Given the description of an element on the screen output the (x, y) to click on. 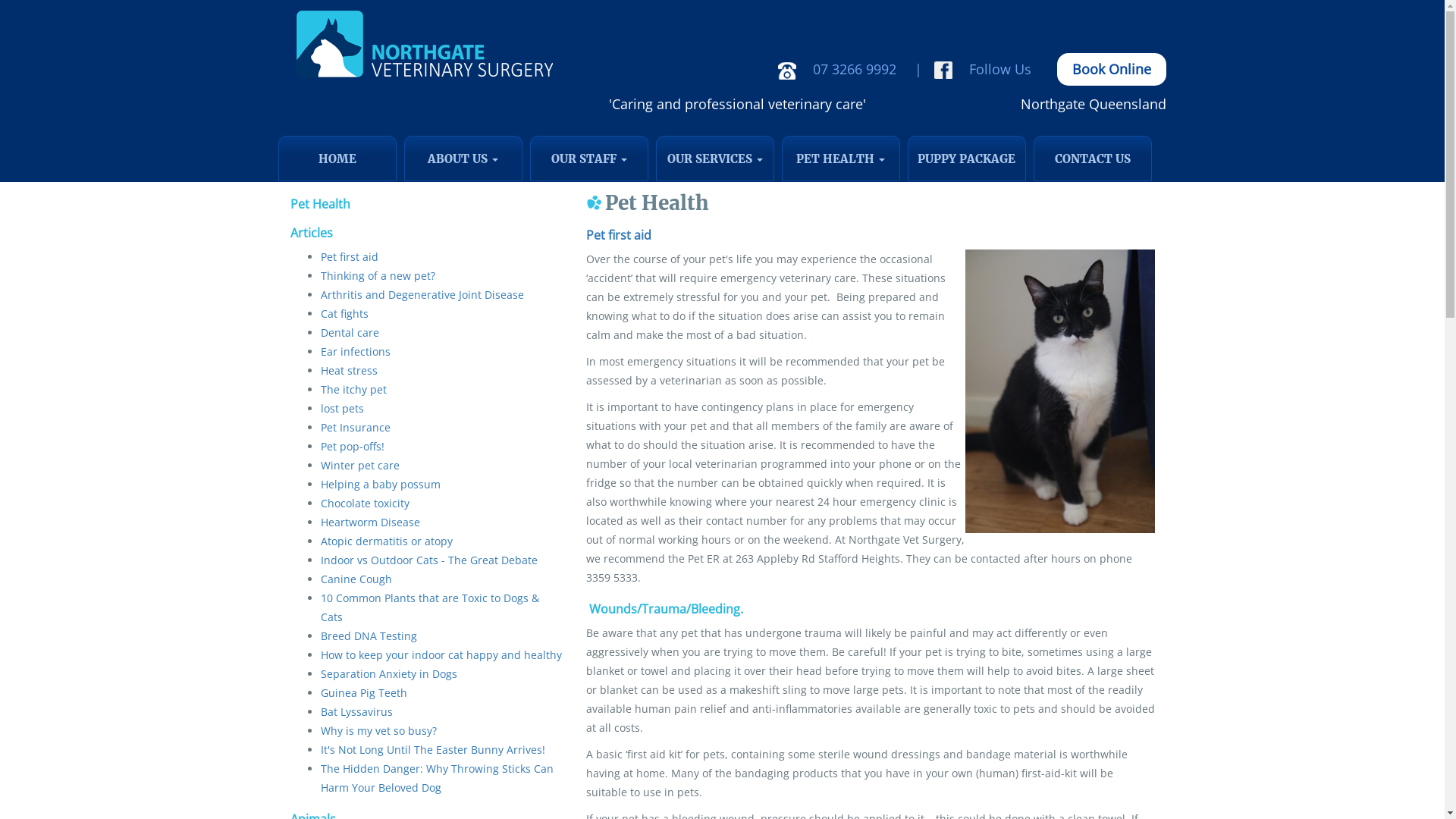
OUR SERVICES Element type: text (714, 158)
Pet pop-offs! Element type: text (351, 446)
The itchy pet Element type: text (352, 389)
Book Online Element type: text (1111, 69)
Atopic dermatitis or atopy Element type: text (385, 540)
Ear infections Element type: text (354, 351)
Helping a baby possum Element type: text (379, 483)
Pet Insurance Element type: text (354, 427)
Thinking of a new pet? Element type: text (377, 275)
Follow Us Element type: text (985, 68)
Dental care Element type: text (349, 332)
lost pets Element type: text (341, 408)
Heartworm Disease Element type: text (369, 521)
Separation Anxiety in Dogs Element type: text (388, 673)
Northgate Veterinary Surgery Logo Element type: hover (422, 45)
Canine Cough Element type: text (355, 578)
Cat fights Element type: text (343, 313)
OUR STAFF Element type: text (588, 158)
It's Not Long Until The Easter Bunny Arrives! Element type: text (432, 749)
Call Northgate Vet Surgery Element type: hover (786, 70)
Like Northgate Veterinary on Facebook Element type: hover (942, 70)
Bat Lyssavirus Element type: text (356, 711)
10 Common Plants that are Toxic to Dogs & Cats Element type: text (429, 607)
HOME Element type: text (336, 158)
Arthritis and Degenerative Joint Disease Element type: text (421, 294)
Heat stress Element type: text (348, 370)
Why is my vet so busy? Element type: text (378, 730)
Winter pet care Element type: text (359, 465)
Indoor vs Outdoor Cats - The Great Debate Element type: text (428, 559)
Guinea Pig Teeth Element type: text (363, 692)
Pet first aid Element type: text (348, 256)
PET HEALTH Element type: text (840, 158)
Breed DNA Testing Element type: text (368, 635)
07 3266 9992 Element type: text (839, 68)
PUPPY PACKAGE Element type: text (965, 158)
ABOUT US Element type: text (462, 158)
CONTACT US Element type: text (1091, 158)
Pet first aid Element type: text (617, 234)
How to keep your indoor cat happy and healthy Element type: text (440, 654)
Chocolate toxicity Element type: text (364, 502)
